Given the description of an element on the screen output the (x, y) to click on. 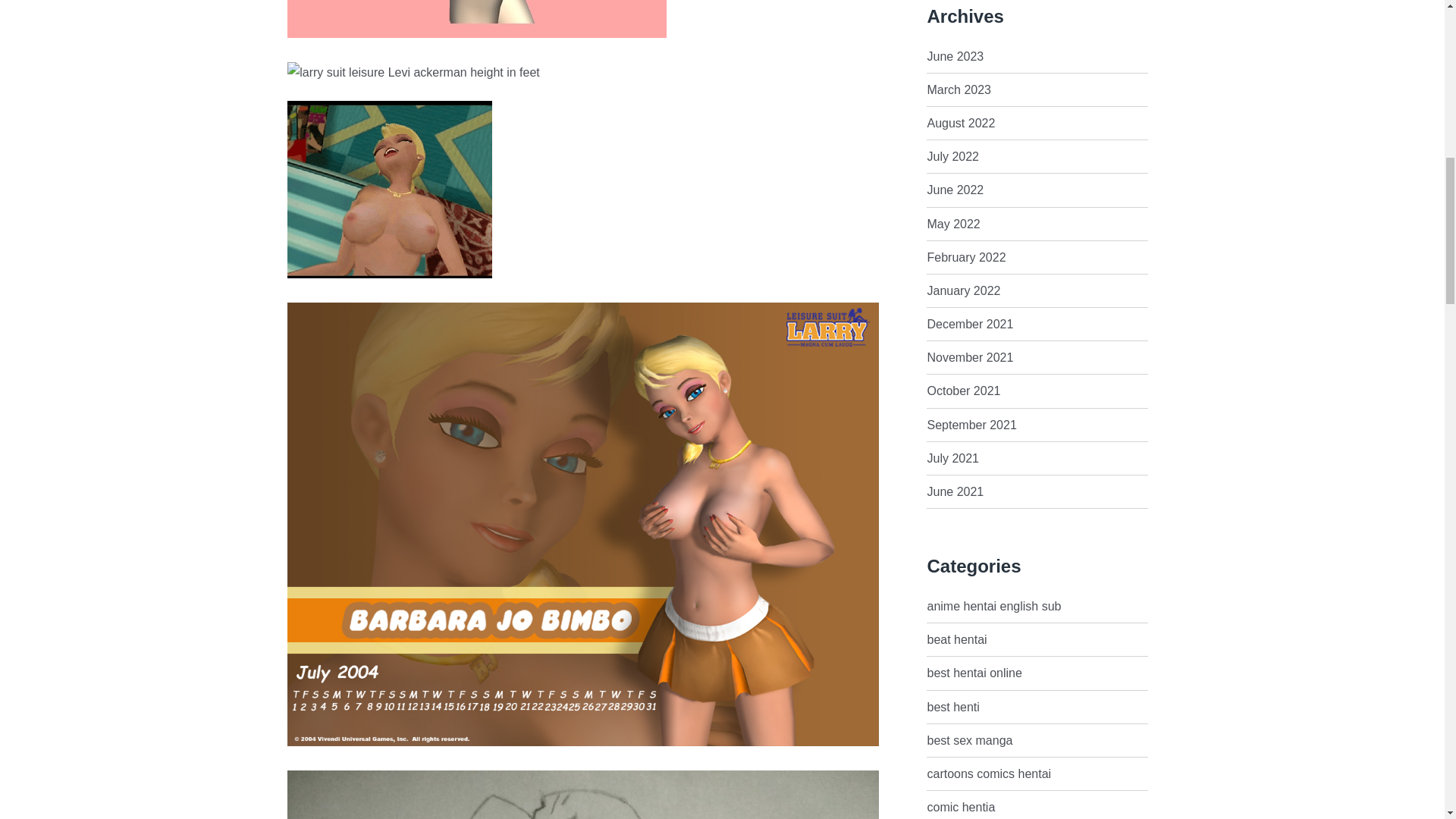
December 2021 (969, 323)
June 2023 (955, 56)
cartoons comics hentai (988, 773)
July 2021 (952, 458)
May 2022 (952, 223)
March 2023 (958, 89)
October 2021 (963, 390)
best hentai online (974, 672)
June 2022 (955, 189)
best sex manga (968, 739)
anime hentai english sub (993, 605)
November 2021 (969, 357)
September 2021 (971, 424)
February 2022 (966, 256)
July 2022 (952, 155)
